Given the description of an element on the screen output the (x, y) to click on. 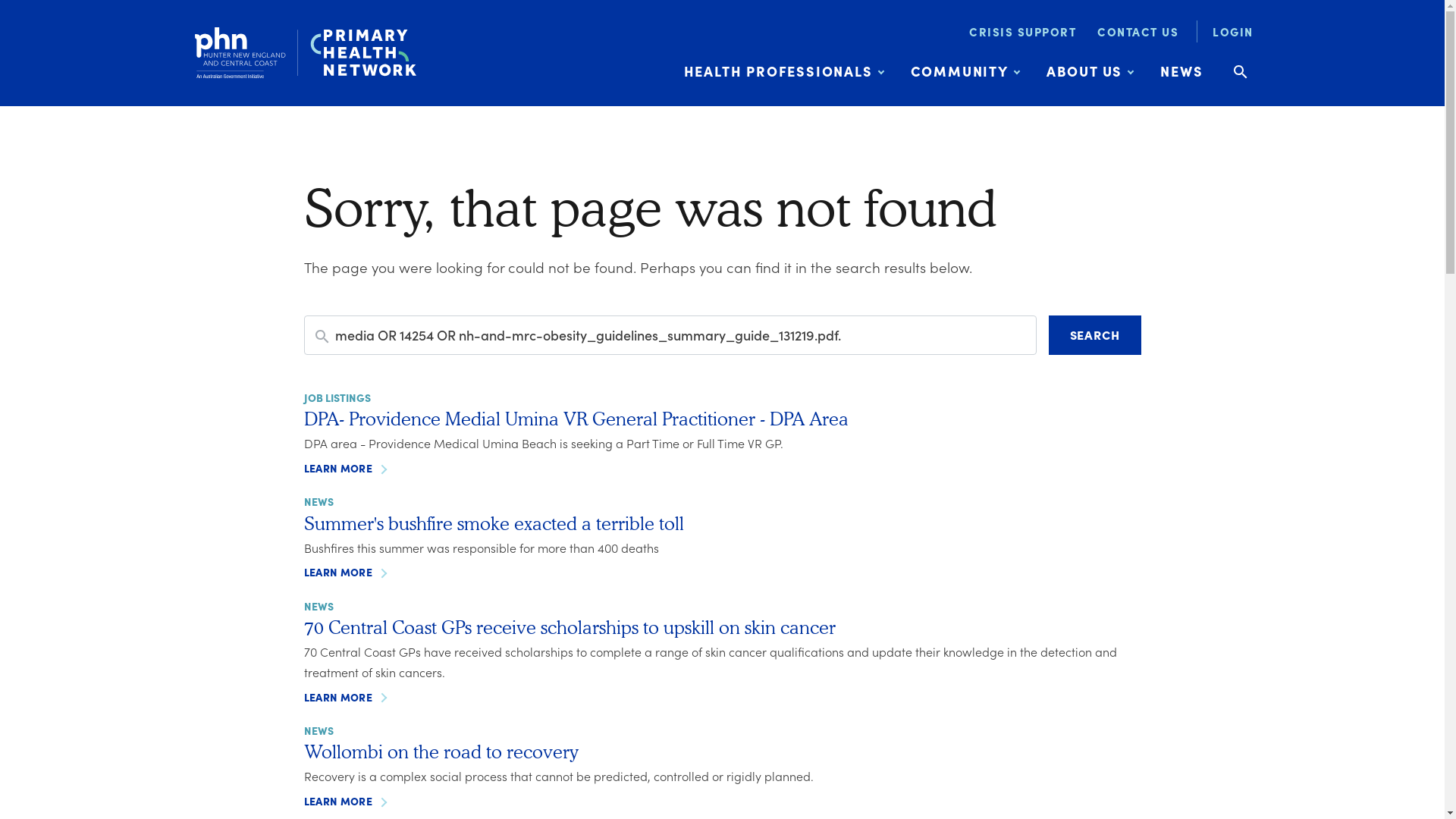
LEARN MORE Element type: text (345, 800)
LEARN MORE Element type: text (345, 467)
LEARN MORE Element type: text (345, 571)
CRISIS SUPPORT Element type: text (1022, 31)
Summer's bushfire smoke exacted a terrible toll Element type: text (493, 522)
Wollombi on the road to recovery Element type: text (440, 750)
LOGIN Element type: text (1226, 31)
SEARCH Element type: text (1094, 334)
COMMUNITY Element type: text (964, 70)
CONTACT US Element type: text (1137, 31)
Primary Health Network Homepage Element type: text (304, 53)
ABOUT US Element type: text (1089, 70)
LEARN MORE Element type: text (345, 697)
NEWS Element type: text (1181, 70)
HEALTH PROFESSIONALS Element type: text (783, 70)
